Given the description of an element on the screen output the (x, y) to click on. 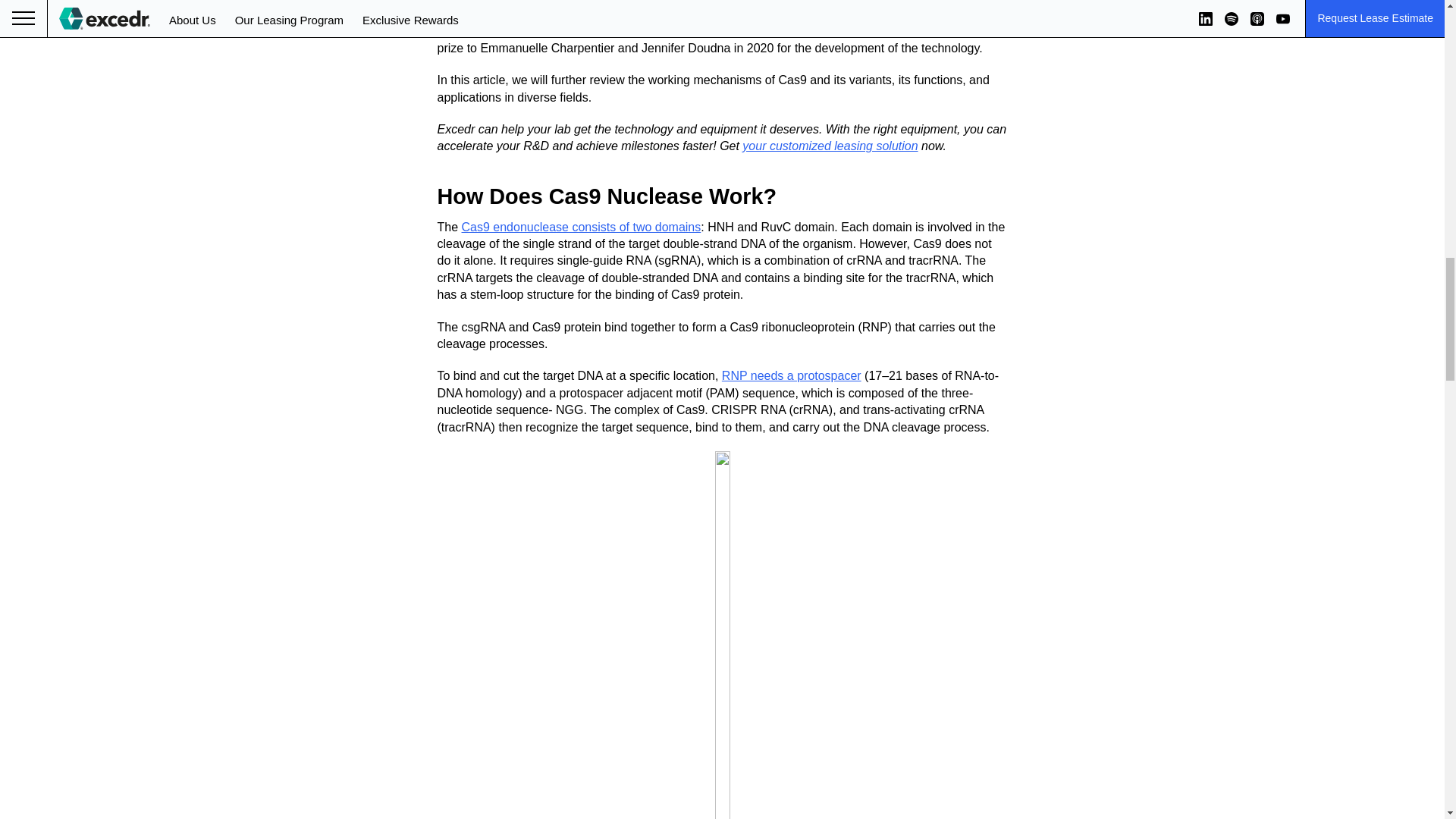
Cas9 endonuclease consists of two domains (581, 226)
molecular weight of 160 kilodaltons (660, 13)
your customized leasing solution (829, 145)
RNP needs a protospacer (791, 375)
